Given the description of an element on the screen output the (x, y) to click on. 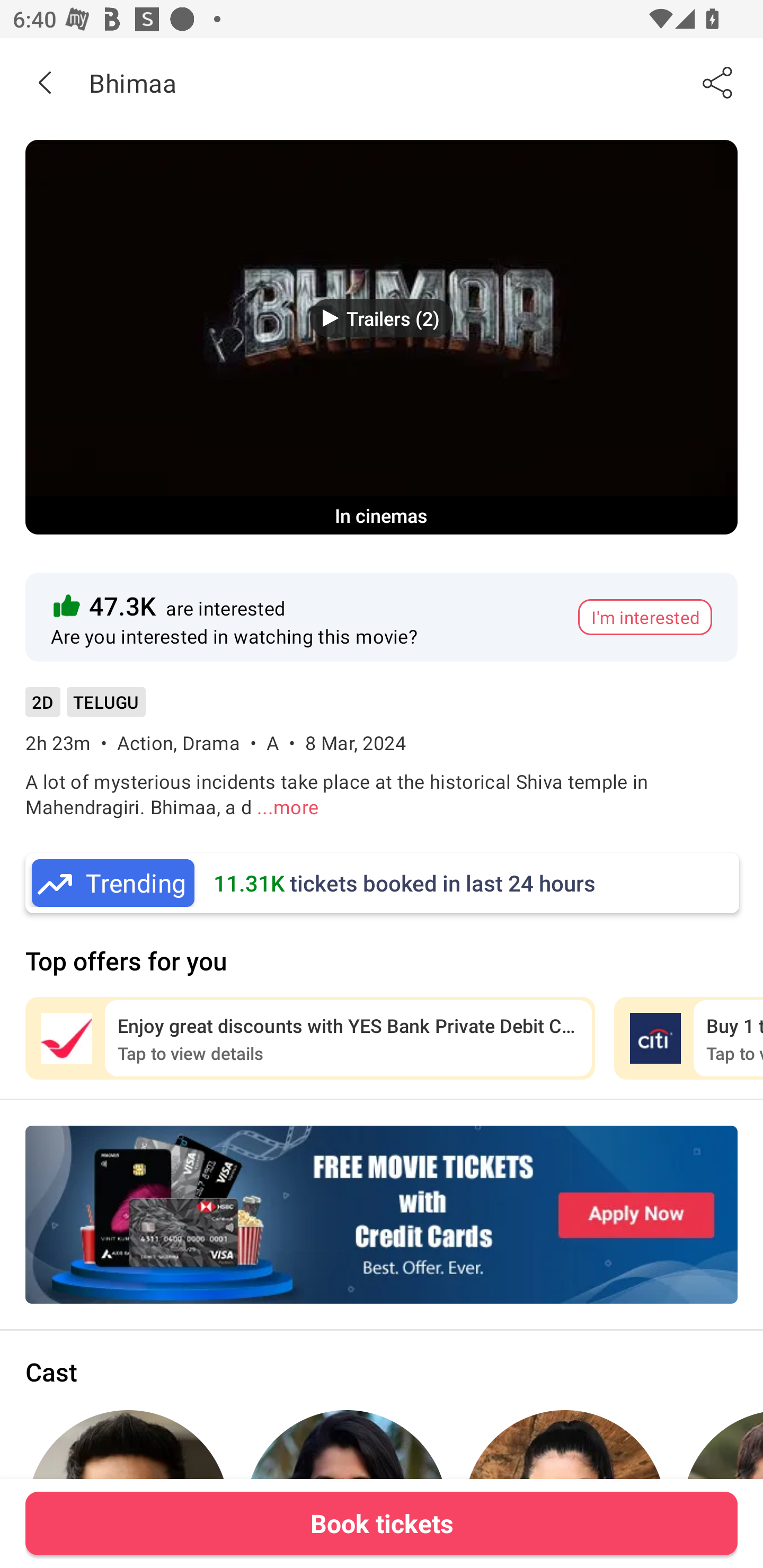
Back (44, 82)
Share (718, 82)
Movie Banner Trailers (2) In cinemas (381, 336)
Trailers (2) (381, 318)
I'm interested (644, 616)
2D TELUGU (85, 707)
Book tickets (381, 1523)
